Given the description of an element on the screen output the (x, y) to click on. 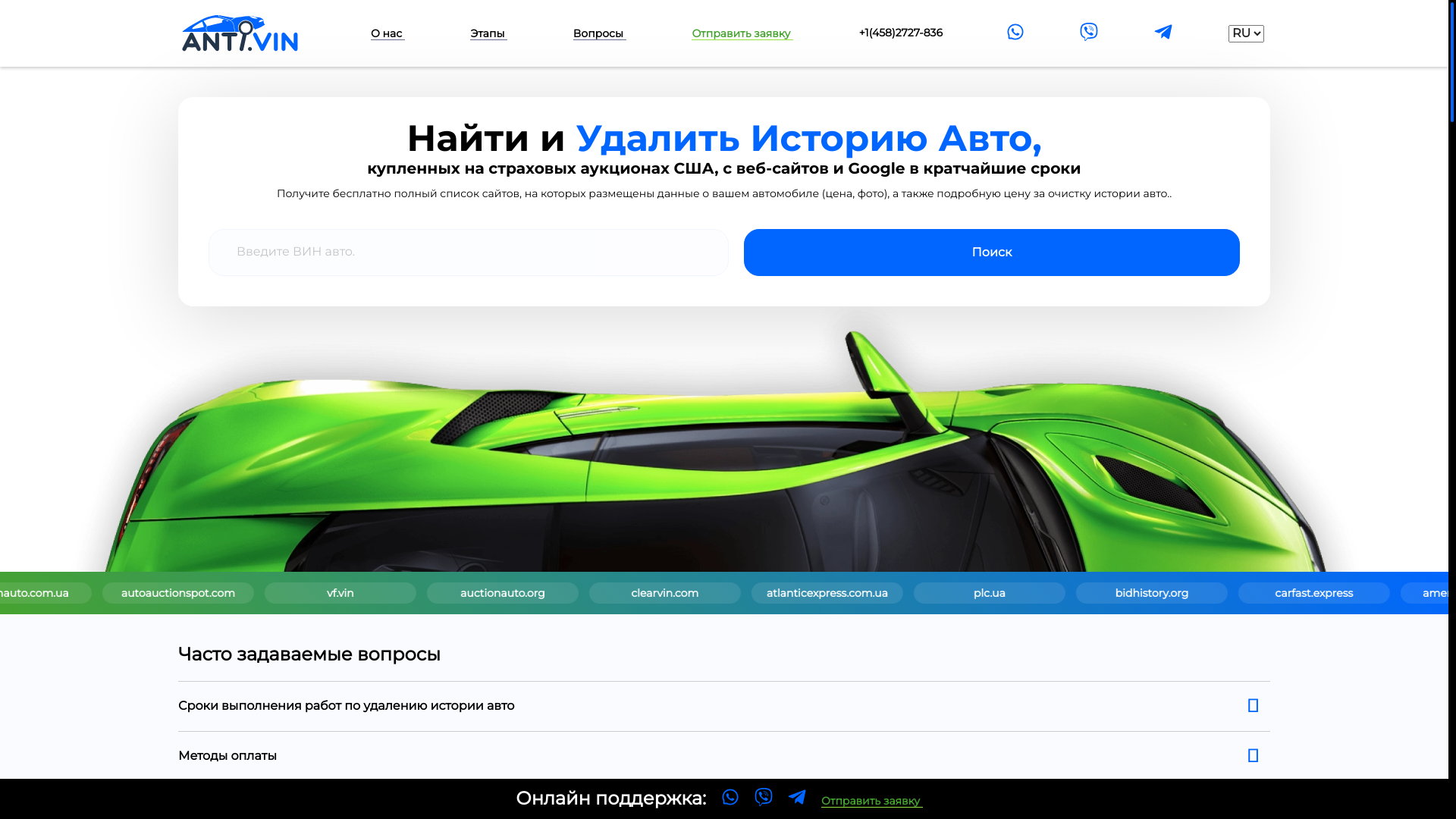
auctionauto.com.ua Element type: text (498, 592)
clearvin.com Element type: text (1135, 592)
atlanticexpress.com.ua Element type: text (1291, 592)
auctionauto.org Element type: text (973, 592)
autoauctionspot.com Element type: text (655, 592)
+1(458)2727-836 Element type: text (900, 32)
stat.vin Element type: text (337, 592)
bidstat.info Element type: text (177, 592)
vf.vin Element type: text (814, 592)
